Given the description of an element on the screen output the (x, y) to click on. 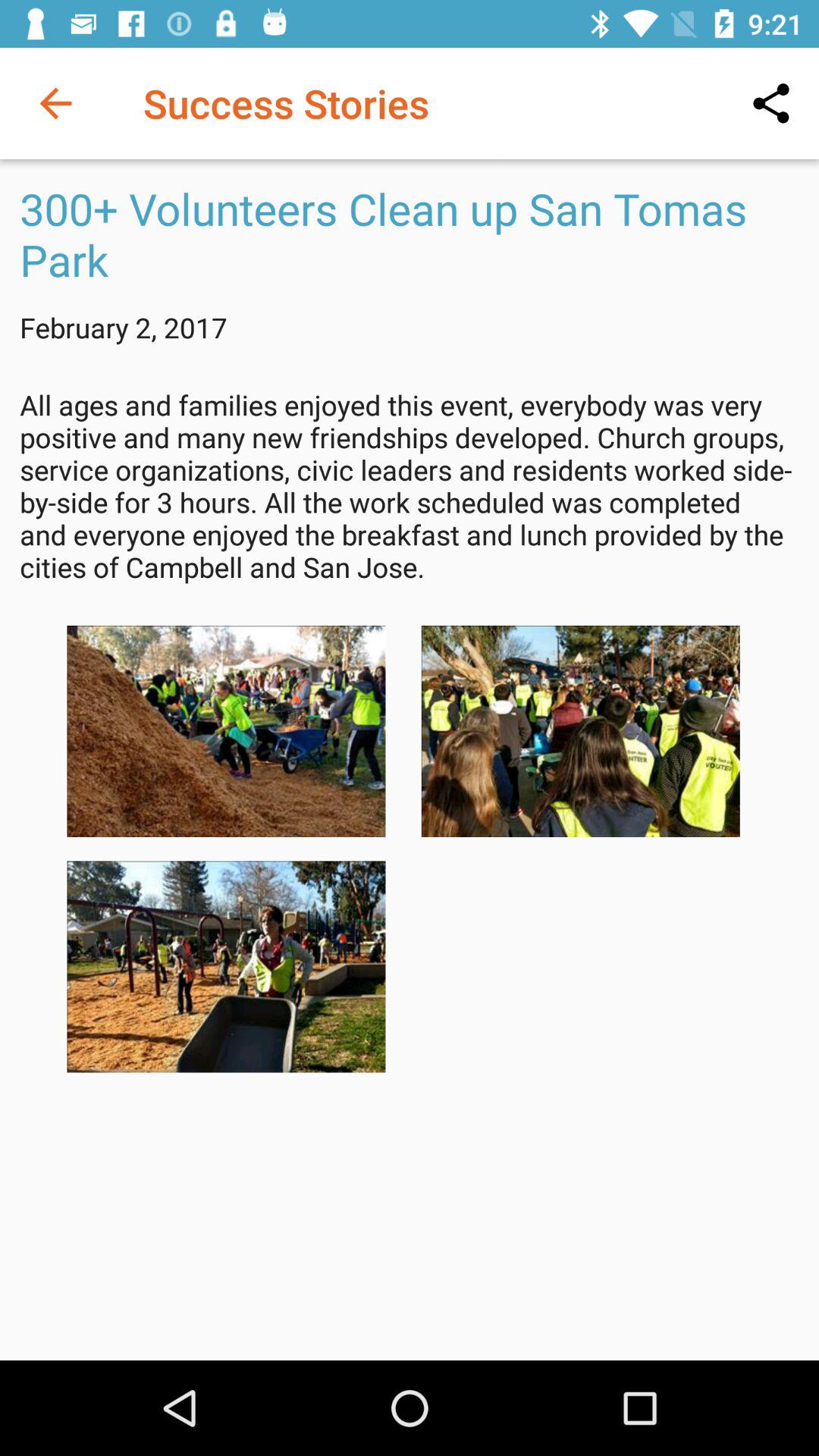
open the item above the 300 volunteers clean icon (771, 103)
